Given the description of an element on the screen output the (x, y) to click on. 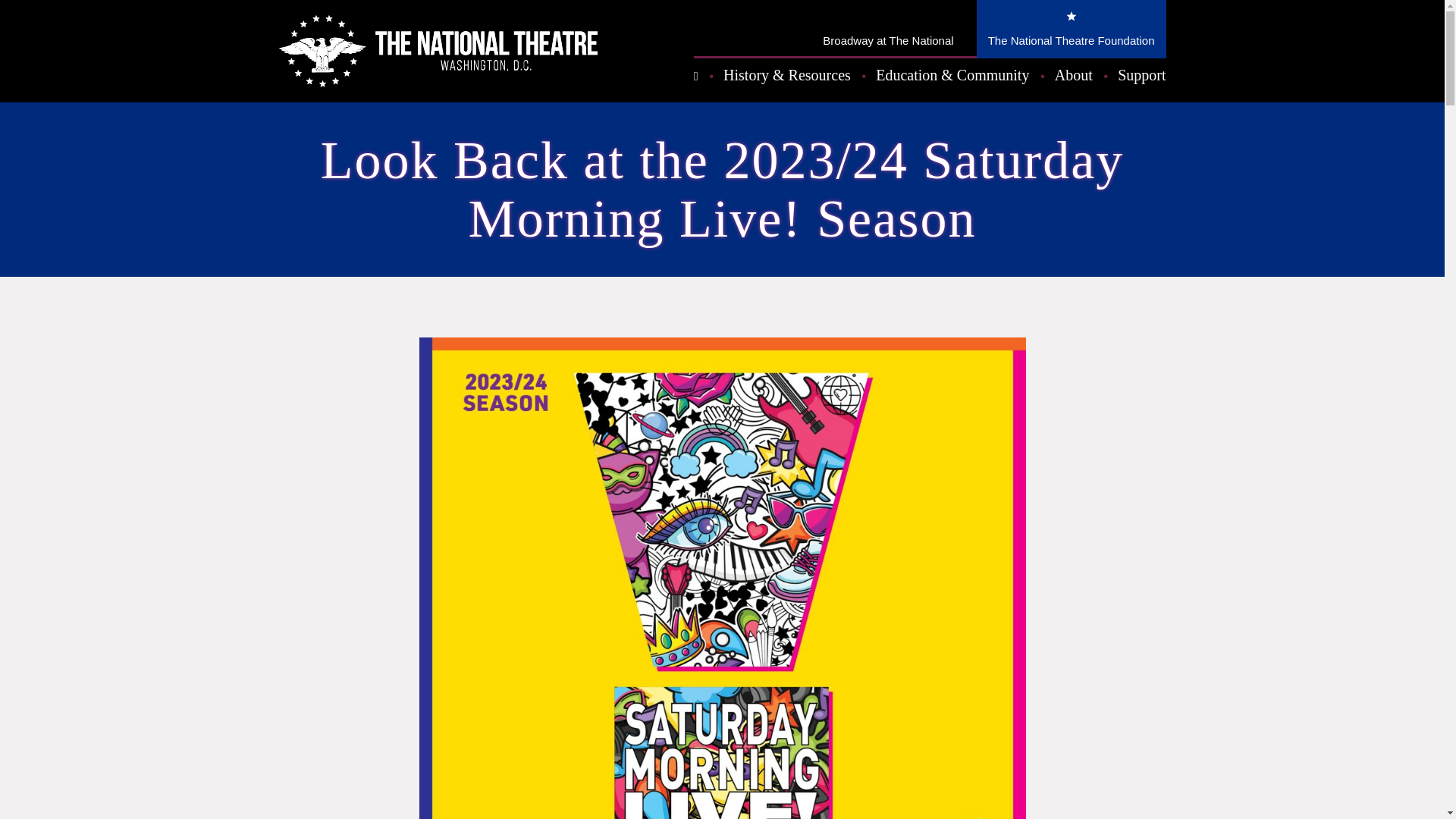
Broadway at The National (886, 29)
The National Theatre Foundation (1071, 29)
About (1073, 78)
